Given the description of an element on the screen output the (x, y) to click on. 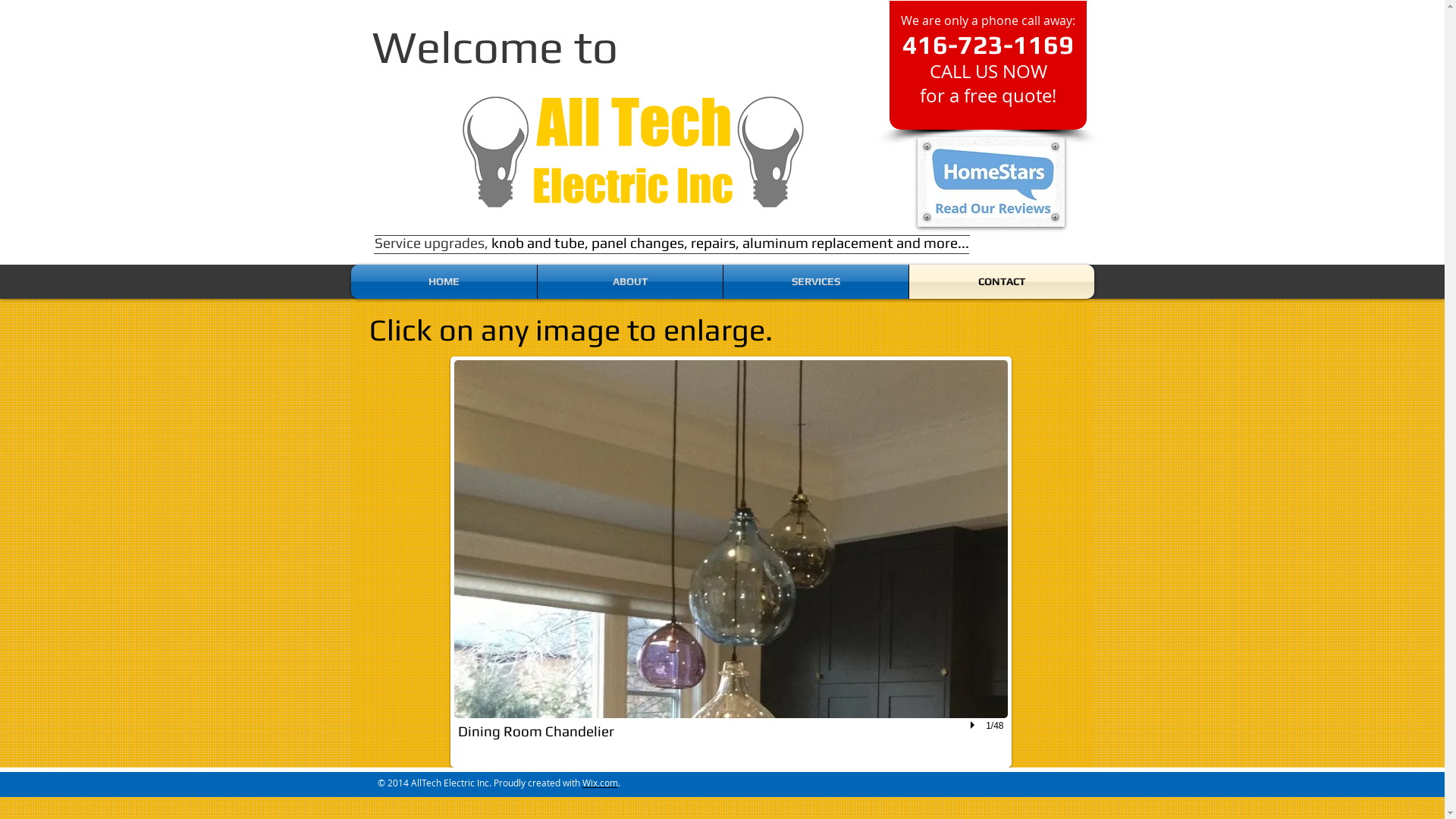
Wix.com Element type: text (600, 782)
CONTACT Element type: text (1000, 281)
HOME Element type: text (443, 281)
ABOUT Element type: text (628, 281)
SERVICES Element type: text (815, 281)
